Given the description of an element on the screen output the (x, y) to click on. 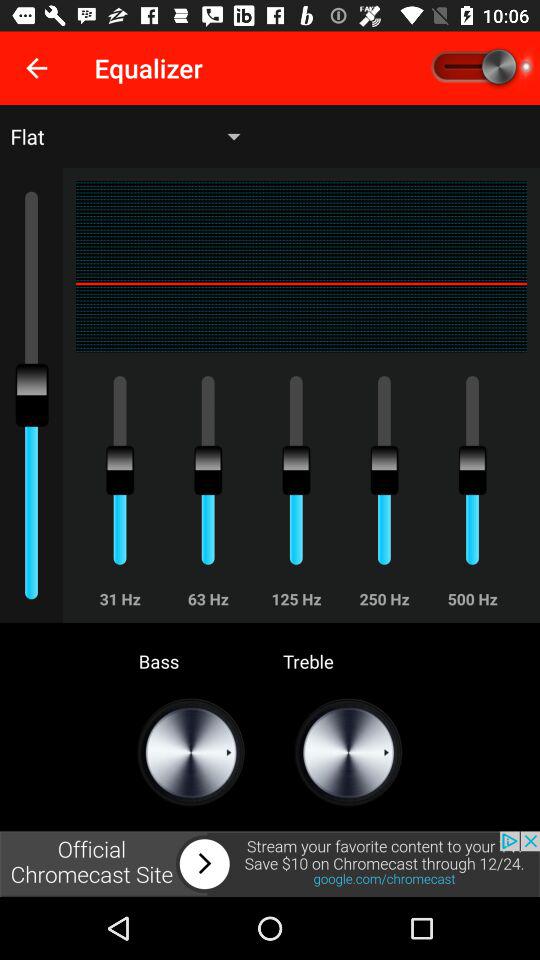
toggle equalizer (480, 68)
